Given the description of an element on the screen output the (x, y) to click on. 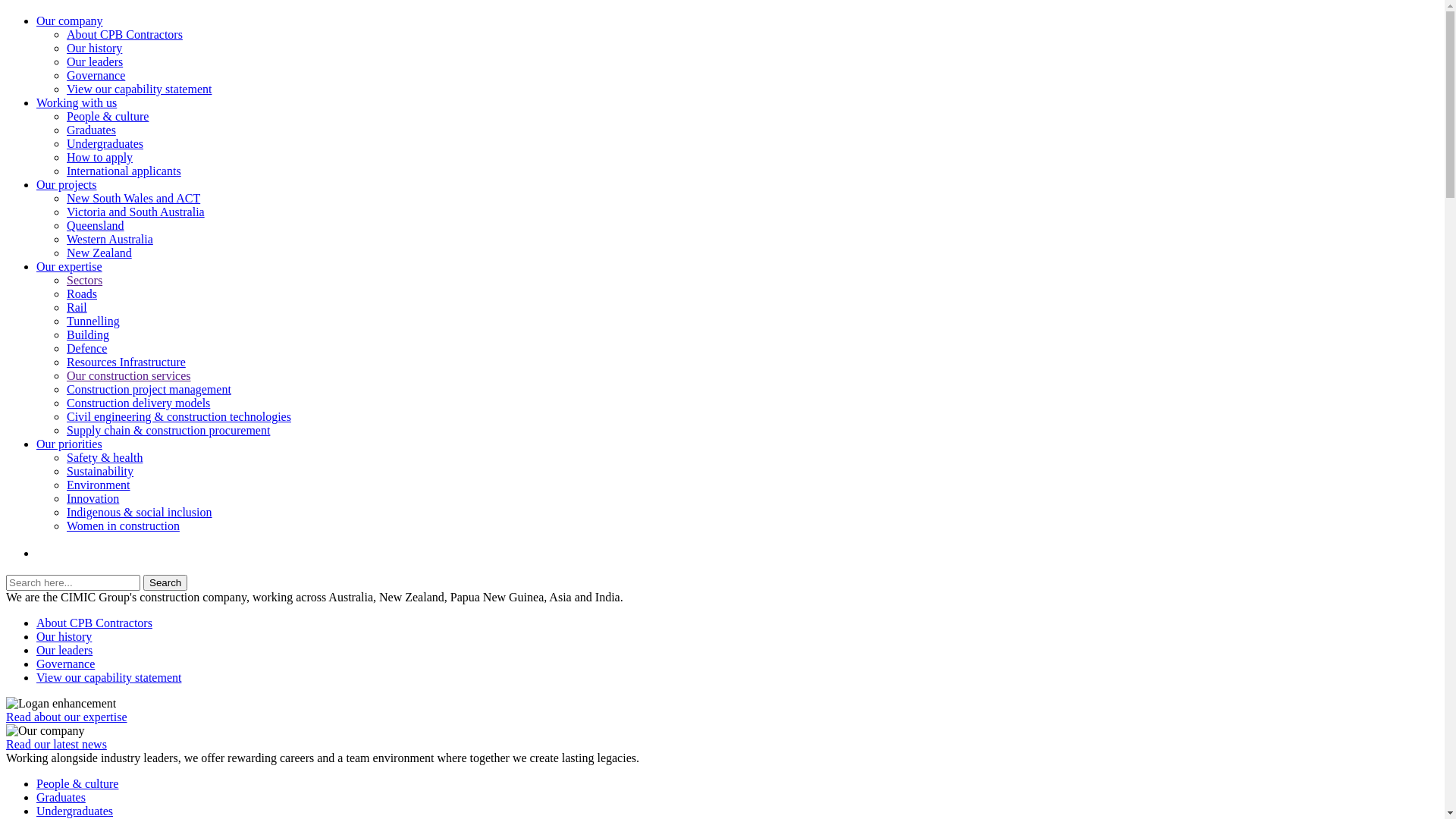
Governance Element type: text (95, 75)
New South Wales and ACT Element type: text (133, 197)
About CPB Contractors Element type: text (124, 34)
Our projects Element type: text (66, 184)
Our priorities Element type: text (69, 443)
Women in construction Element type: text (122, 525)
Our company Element type: text (69, 20)
Roads Element type: text (81, 293)
Defence Element type: text (86, 348)
Undergraduates Element type: text (74, 810)
People & culture Element type: text (77, 783)
International applicants Element type: text (123, 170)
People & culture Element type: text (107, 115)
About CPB Contractors Element type: text (94, 622)
Environment Element type: text (98, 484)
Civil engineering & construction technologies Element type: text (178, 416)
Our construction services Element type: text (128, 375)
Read our latest news Element type: text (722, 744)
Resources Infrastructure Element type: text (125, 361)
Supply chain & construction procurement Element type: text (167, 429)
Rail Element type: text (76, 307)
View our capability statement Element type: text (138, 88)
Sectors Element type: text (84, 279)
Tunnelling Element type: text (92, 320)
Indigenous & social inclusion Element type: text (139, 511)
Governance Element type: text (65, 663)
Our leaders Element type: text (64, 649)
New Zealand Element type: text (98, 252)
Western Australia Element type: text (109, 238)
Graduates Element type: text (60, 796)
Victoria and South Australia Element type: text (135, 211)
Safety & health Element type: text (104, 457)
Construction delivery models Element type: text (138, 402)
How to apply Element type: text (99, 156)
Queensland Element type: text (95, 225)
Our leaders Element type: text (94, 61)
Innovation Element type: text (92, 498)
Our expertise Element type: text (69, 266)
Working with us Element type: text (76, 102)
View our capability statement Element type: text (108, 677)
Construction project management Element type: text (148, 388)
Our history Element type: text (63, 636)
Sustainability Element type: text (99, 470)
Graduates Element type: text (91, 129)
Search Element type: text (165, 582)
Building Element type: text (87, 334)
Our history Element type: text (94, 47)
Undergraduates Element type: text (104, 143)
Read about our expertise Element type: text (722, 717)
